Given the description of an element on the screen output the (x, y) to click on. 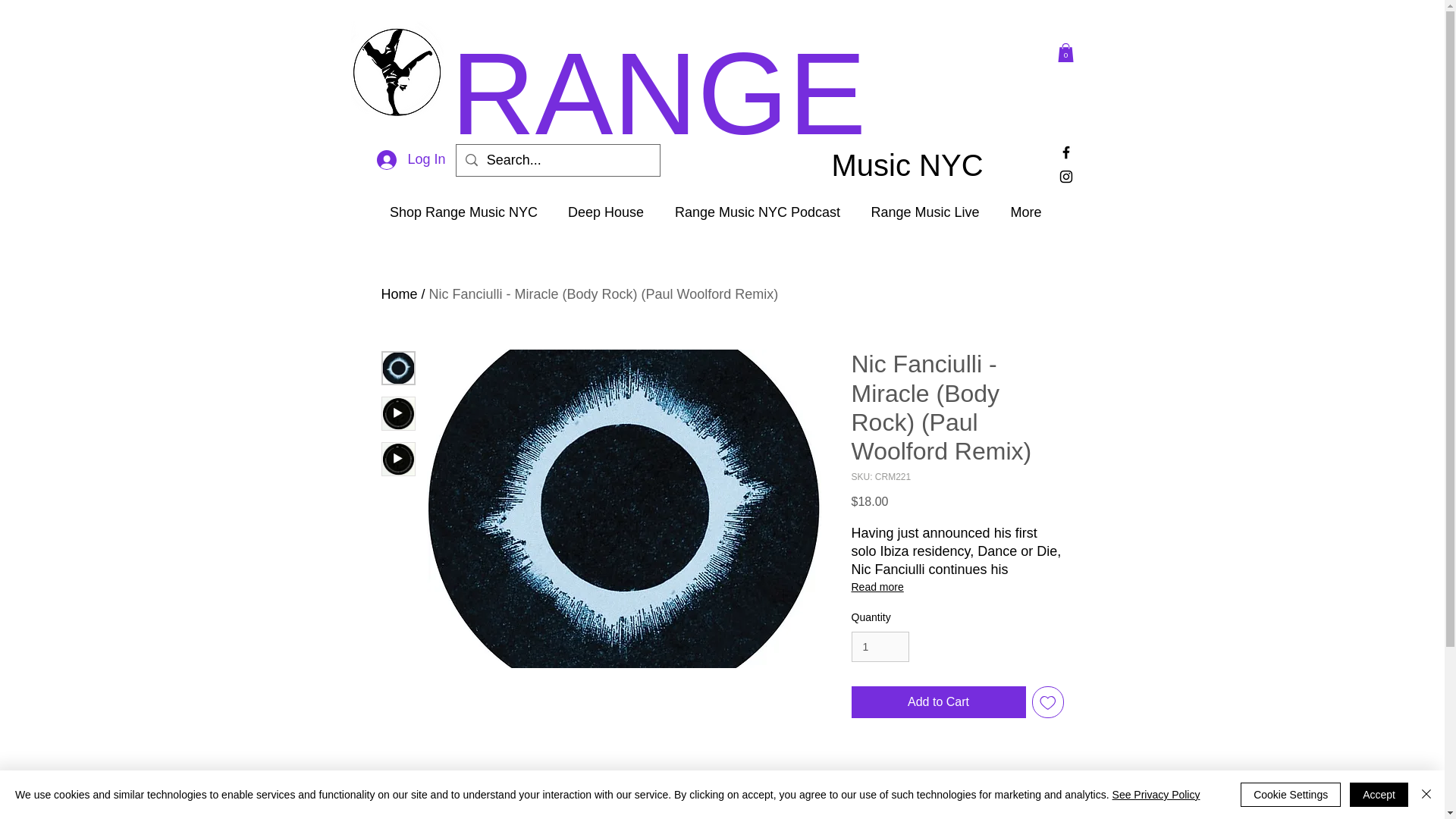
Range Music Live (925, 212)
Deep House (605, 212)
Log In (410, 159)
Read more (956, 586)
1 (879, 646)
Shop Range Music NYC (462, 212)
Home (398, 294)
Music NYC (920, 164)
Range Music NYC Podcast (757, 212)
